Given the description of an element on the screen output the (x, y) to click on. 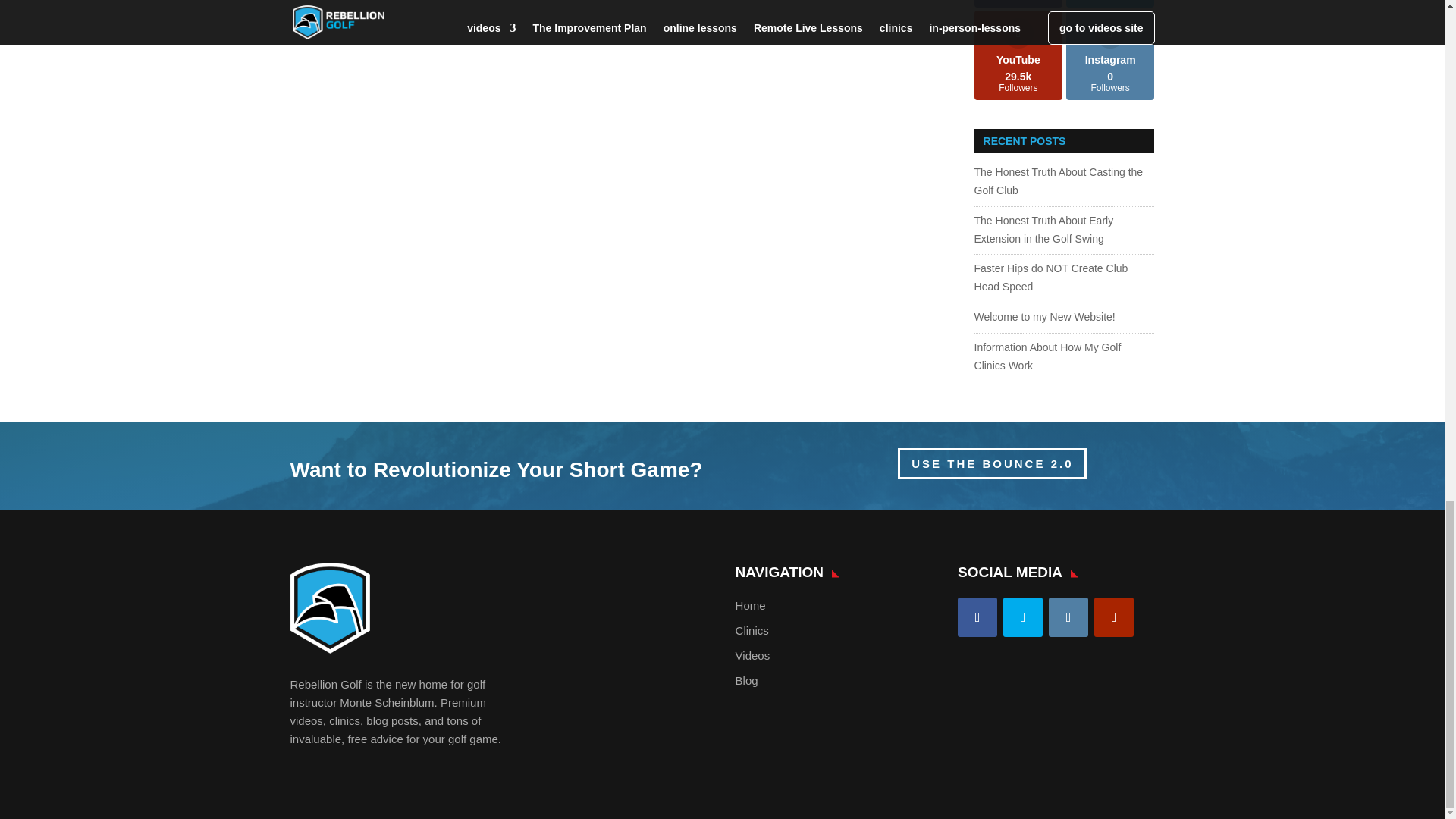
Follow on Twitter (1022, 617)
Follow on Facebook (977, 617)
Follow on Youtube (1114, 617)
Follow on Instagram (1067, 617)
